Given the description of an element on the screen output the (x, y) to click on. 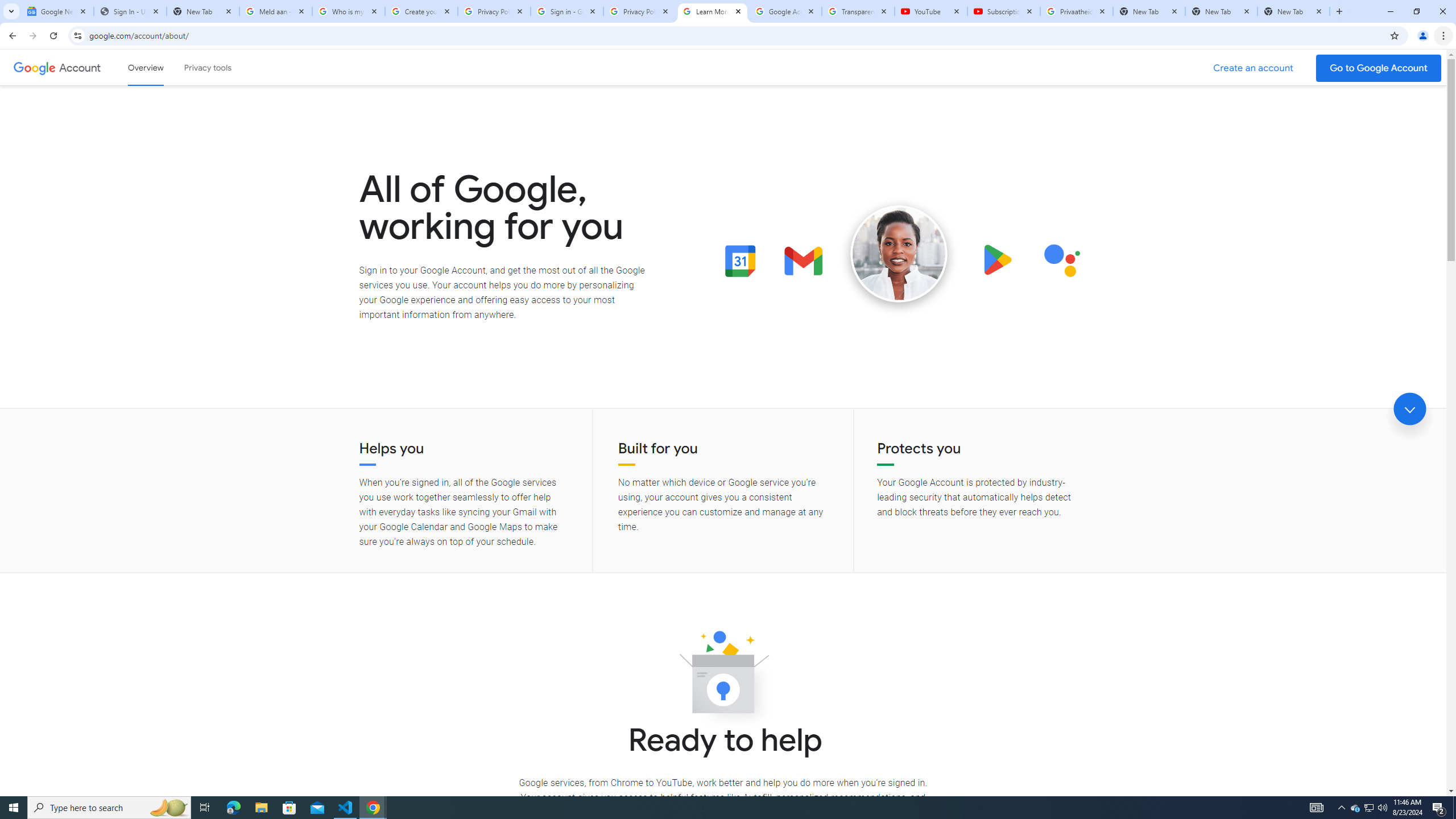
Go to your Google Account (1378, 67)
Sign In - USA TODAY (129, 11)
Google Account overview (145, 67)
Google News (57, 11)
Google Account (785, 11)
